Given the description of an element on the screen output the (x, y) to click on. 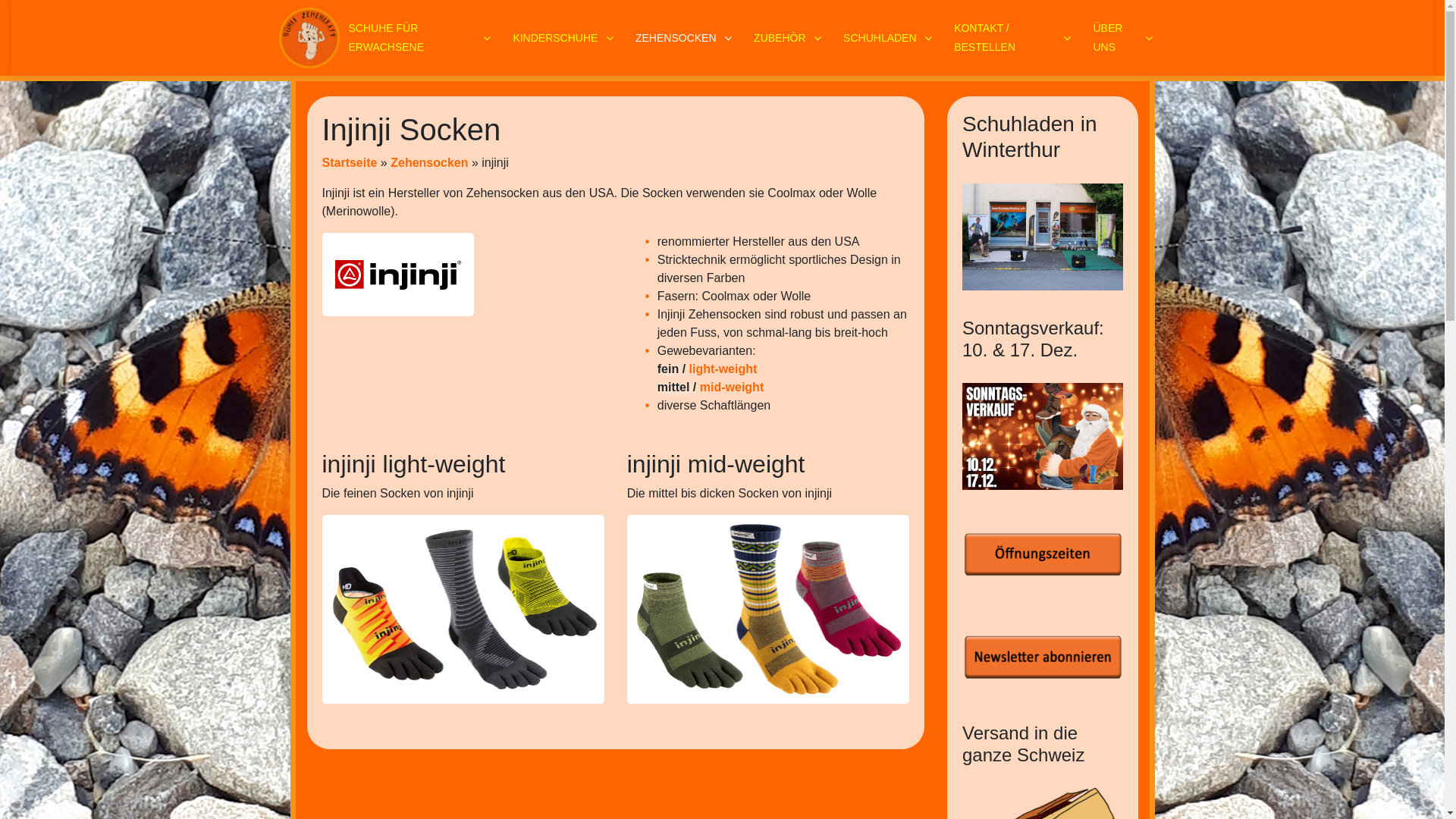
SCHUHLADEN Element type: text (889, 37)
KINDERSCHUHE Element type: text (564, 37)
mid-weight Element type: text (731, 386)
Startseite Element type: text (348, 162)
KONTAKT / BESTELLEN Element type: text (1013, 37)
Zehensocken Element type: text (428, 162)
light-weight Element type: text (723, 368)
ZEHENSOCKEN Element type: text (685, 37)
